Given the description of an element on the screen output the (x, y) to click on. 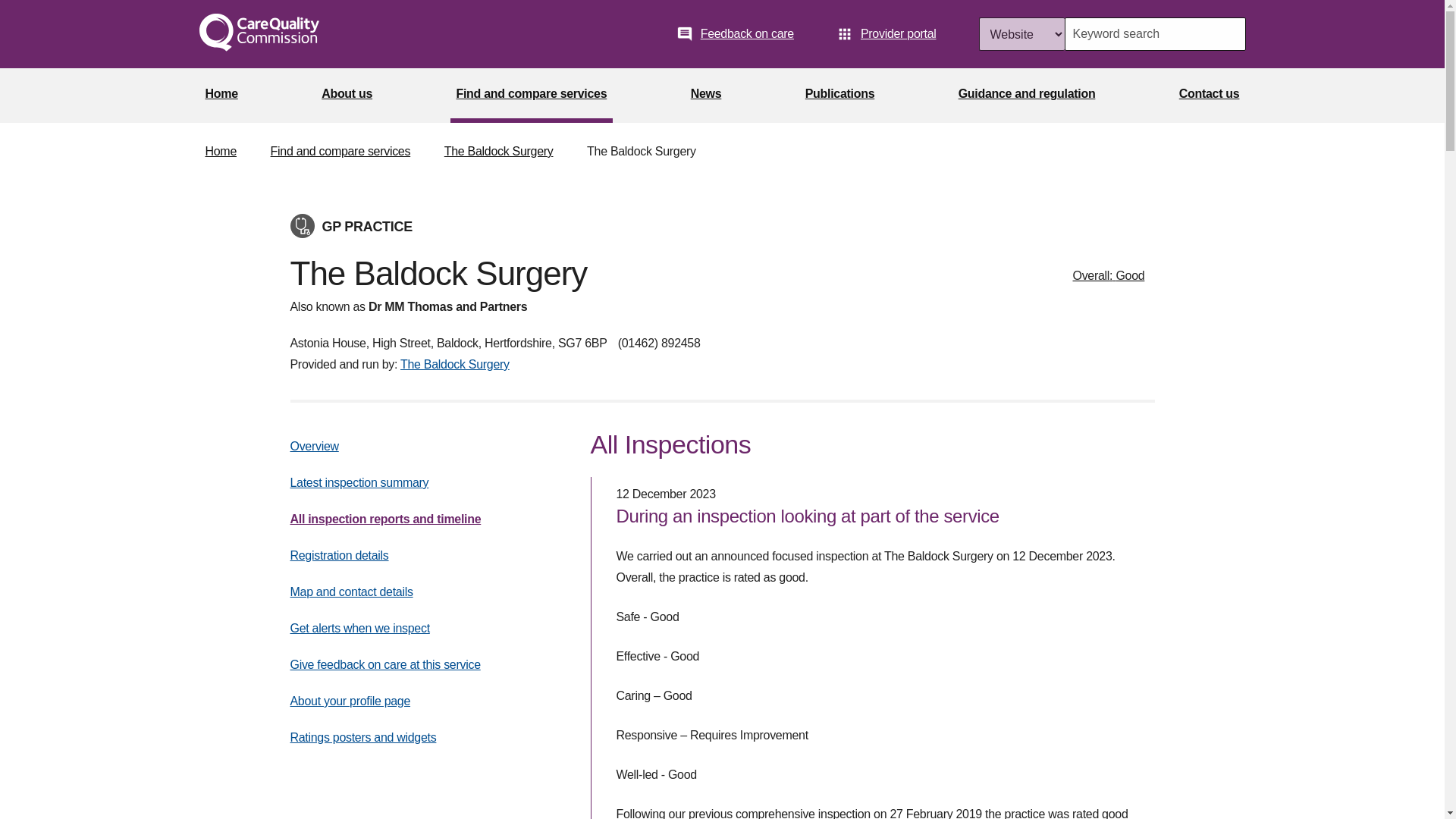
Provider portal (885, 33)
Give feedback on care at this service (384, 664)
The Baldock Surgery (454, 364)
Feedback on care (735, 33)
Publications (839, 94)
All inspection reports and timeline (384, 518)
Guidance and regulation (1027, 94)
Search (1227, 33)
About your profile page (349, 700)
Home (220, 151)
